Given the description of an element on the screen output the (x, y) to click on. 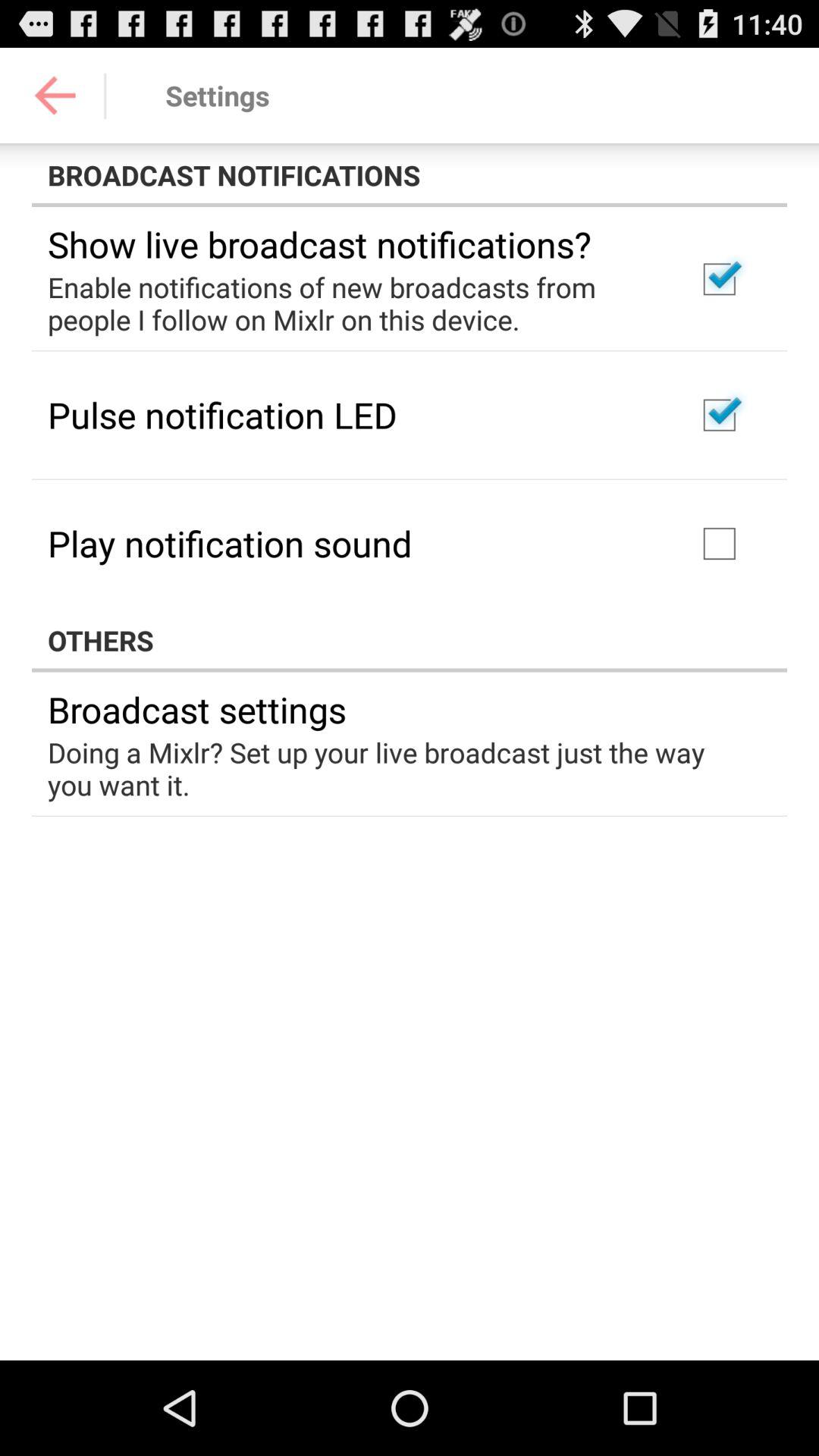
tap the item above the others (229, 543)
